Given the description of an element on the screen output the (x, y) to click on. 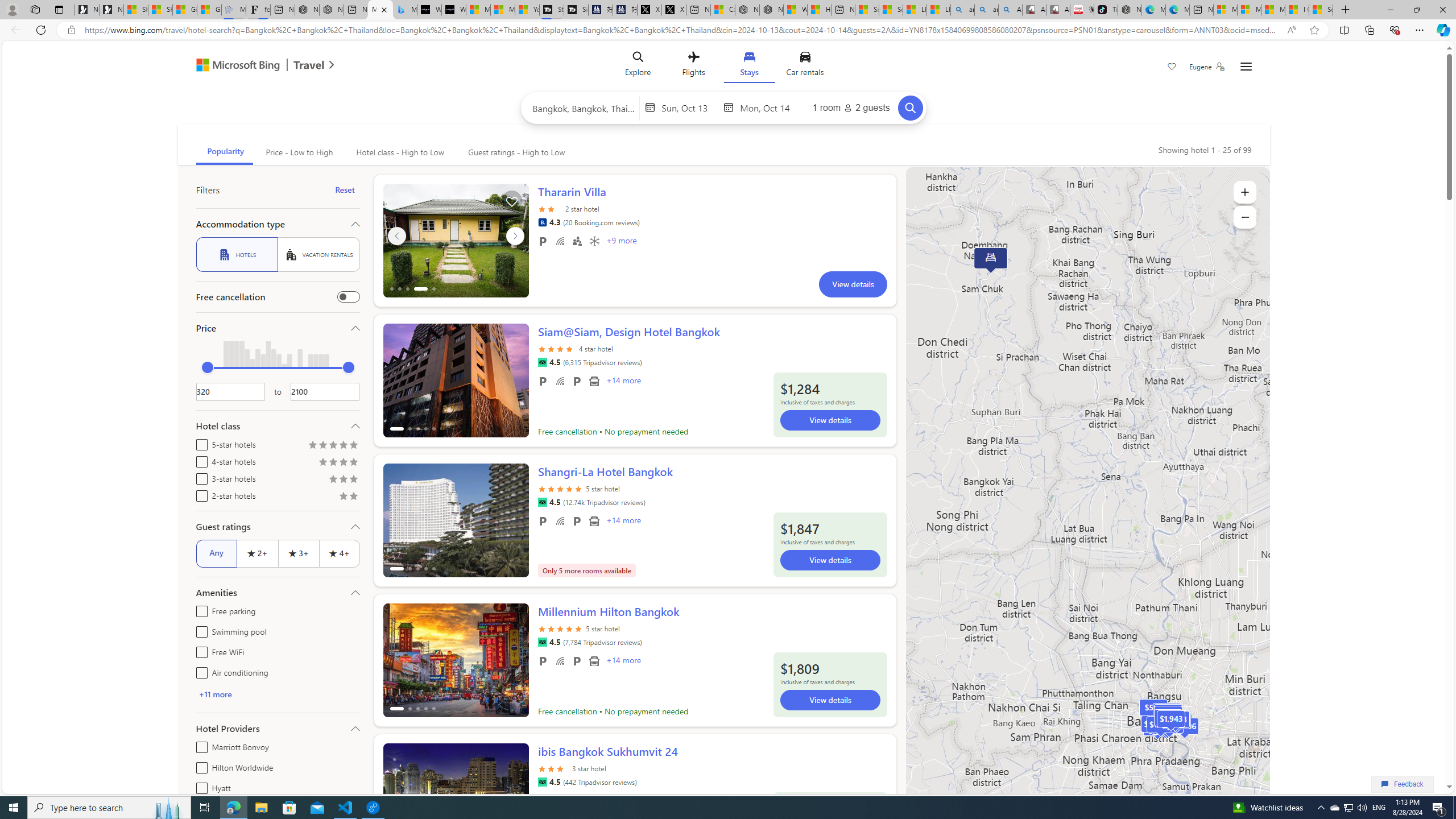
Restore (1416, 9)
Eugene (1206, 66)
Refresh (40, 29)
AutomationID: TextField877 (325, 391)
Rating (353, 496)
4+ (338, 553)
star rating (553, 768)
Gilma and Hector both pose tropical trouble for Hawaii (208, 9)
Class: msft-travel-logo (308, 64)
Explore (637, 65)
Hotel Providers (277, 728)
5-star hotels (199, 442)
Class: msft-bing-logo msft-bing-logo-desktop (234, 64)
